Given the description of an element on the screen output the (x, y) to click on. 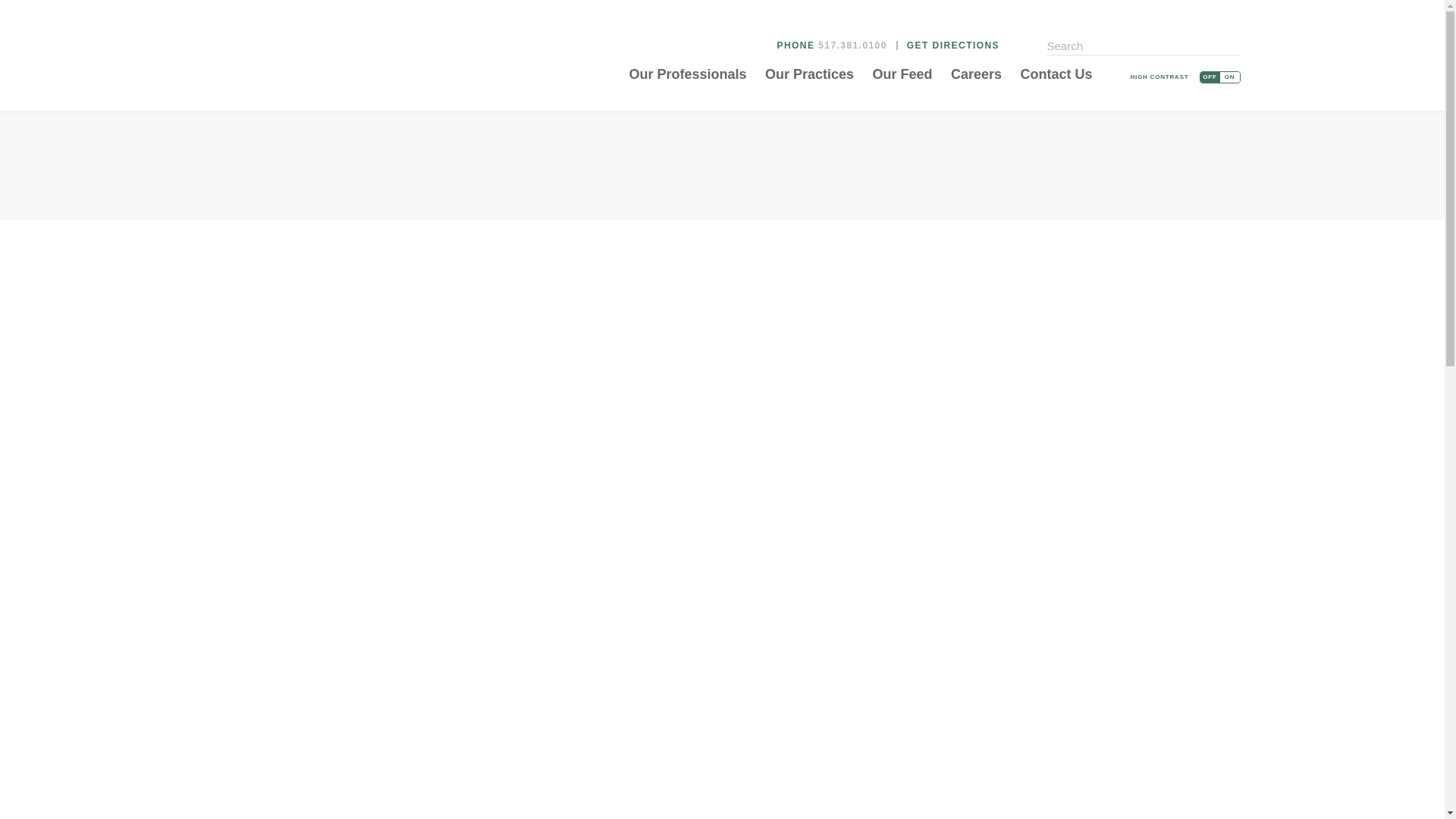
Our Feed (901, 73)
FSBR (273, 58)
Contact Us (1055, 73)
Our Professionals (687, 73)
517.381.0100 (852, 45)
Search for: (1143, 46)
Careers (976, 73)
Our Practices (809, 73)
GET DIRECTIONS (952, 45)
